Given the description of an element on the screen output the (x, y) to click on. 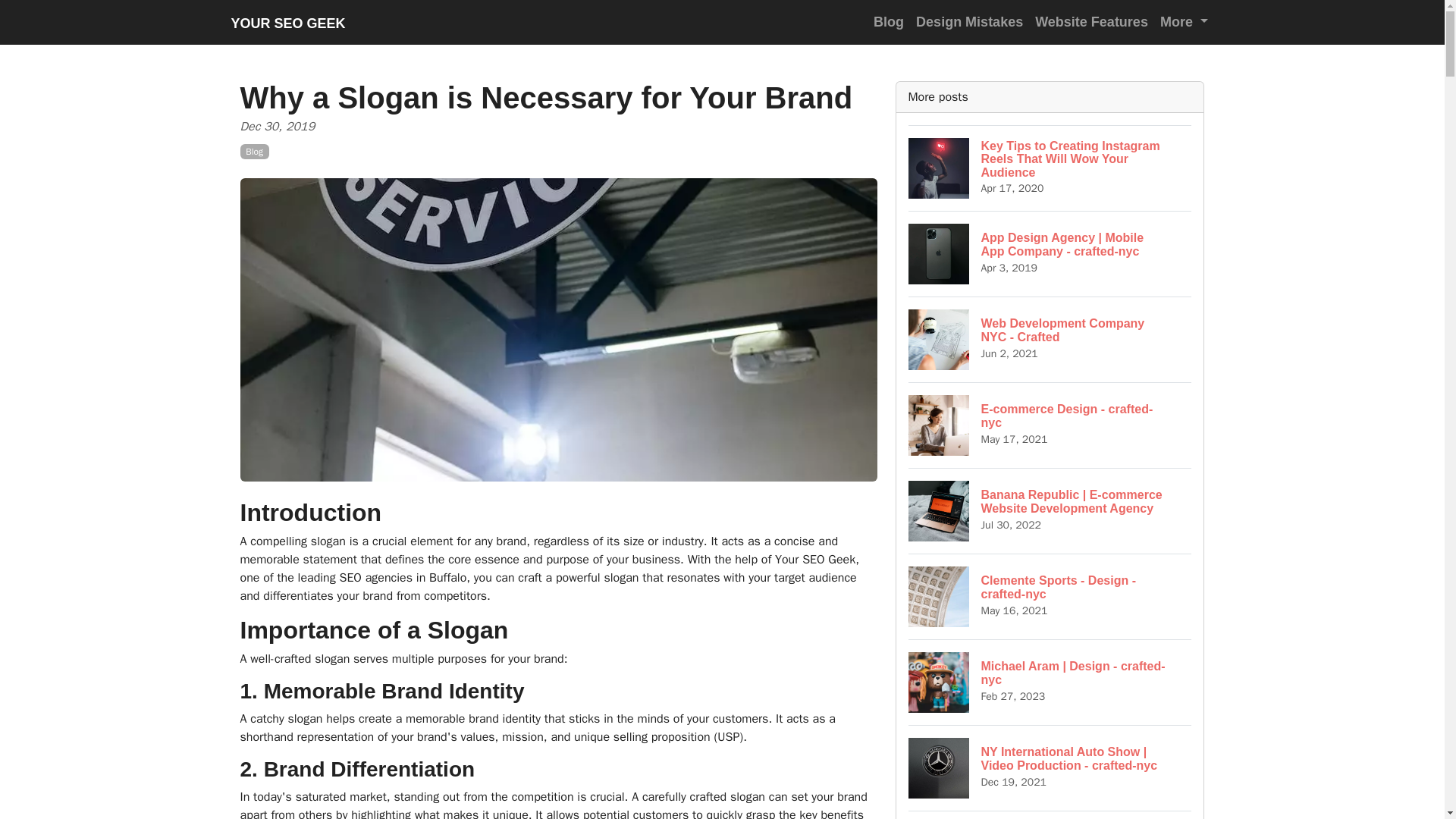
Blog (888, 21)
Design Mistakes (1050, 596)
More (969, 21)
Blog (1050, 814)
YOUR SEO GEEK (1050, 424)
Website Features (1184, 21)
